Given the description of an element on the screen output the (x, y) to click on. 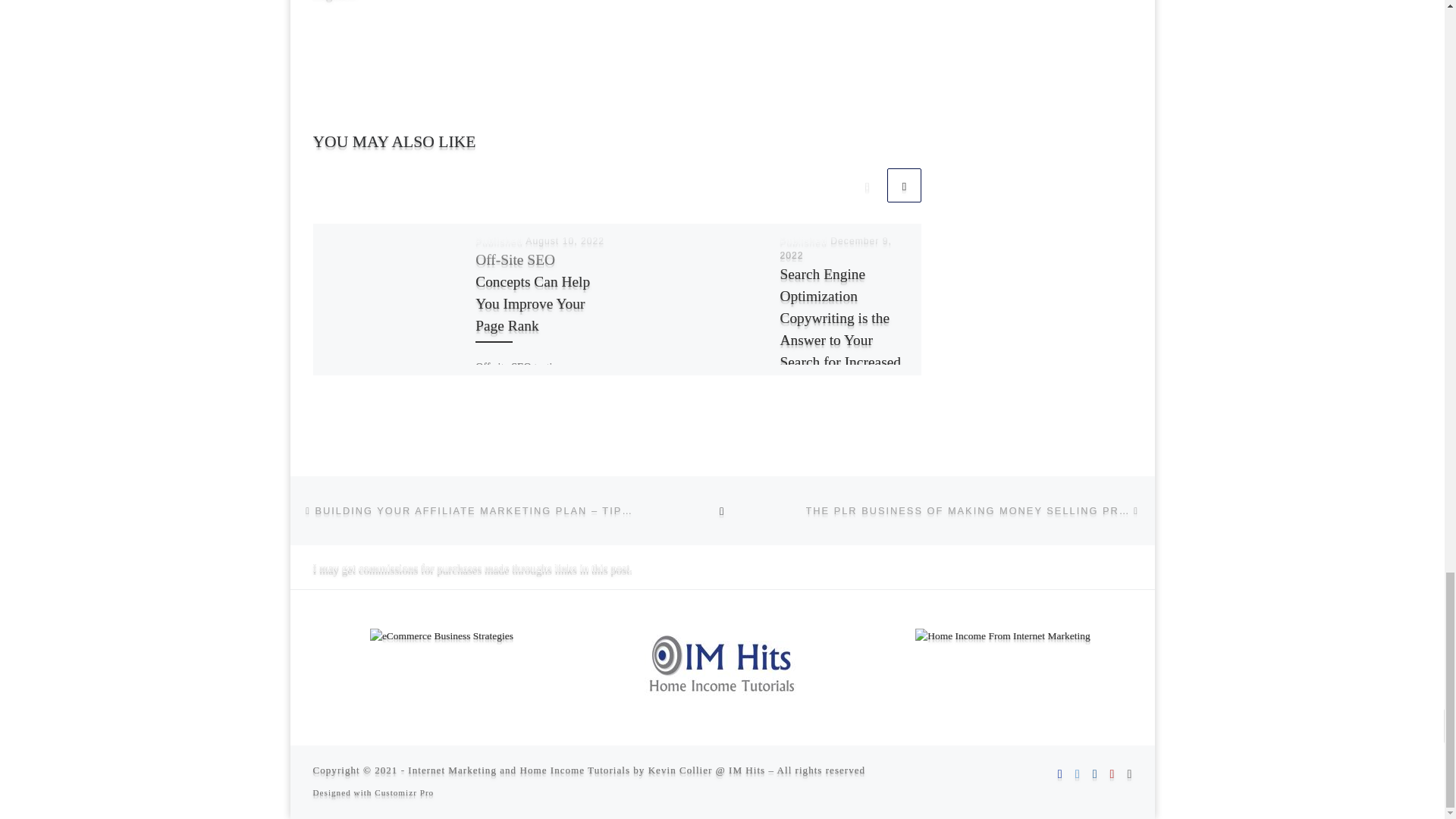
Previous related articles (866, 185)
Off-Site SEO Concepts Can Help You Improve Your Page Rank (532, 292)
August 10, 2022 (564, 240)
Next related articles (903, 185)
